Given the description of an element on the screen output the (x, y) to click on. 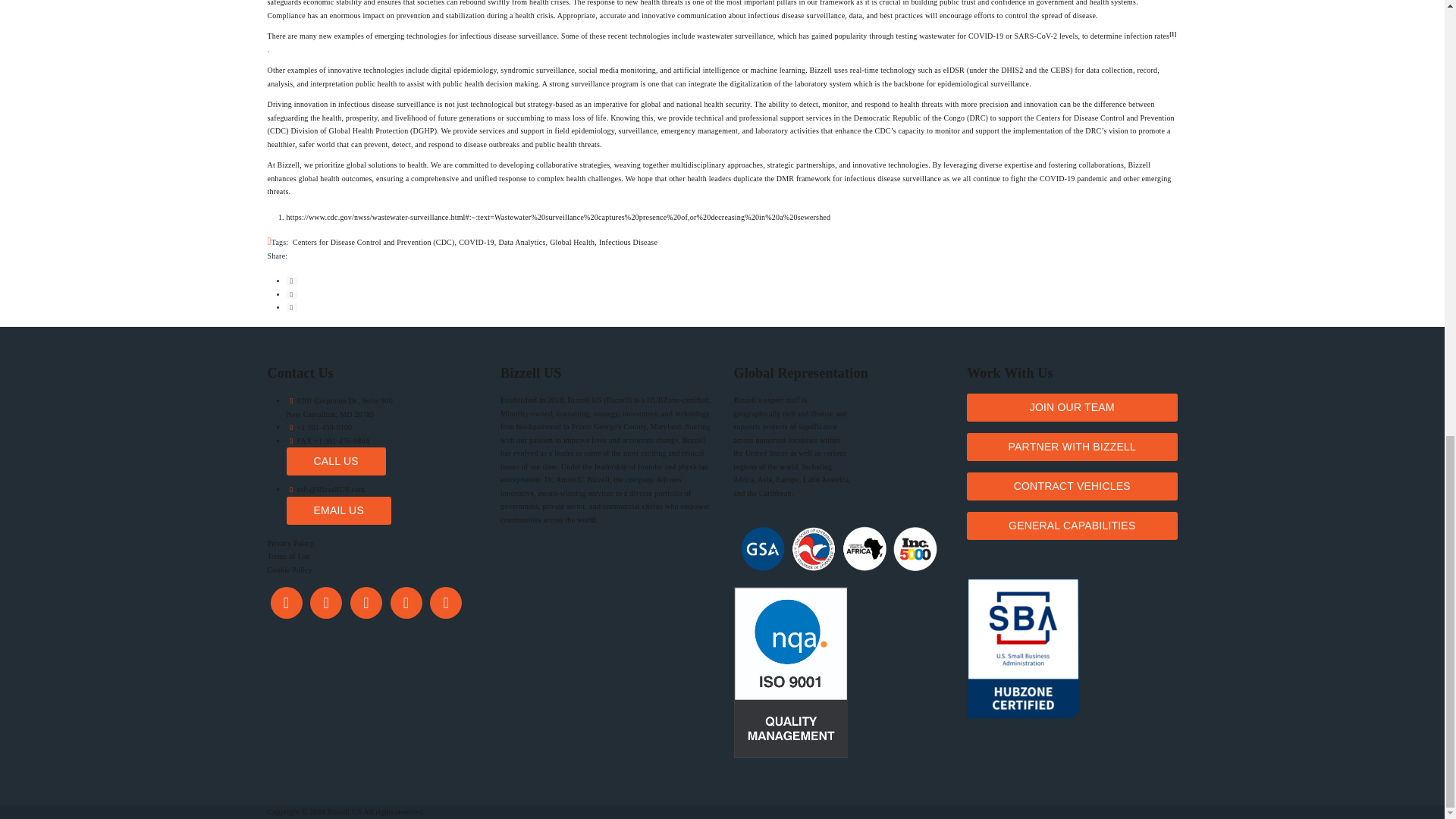
Facebook (285, 601)
Default Label (406, 601)
Instagram (365, 601)
Twitter (326, 601)
